Given the description of an element on the screen output the (x, y) to click on. 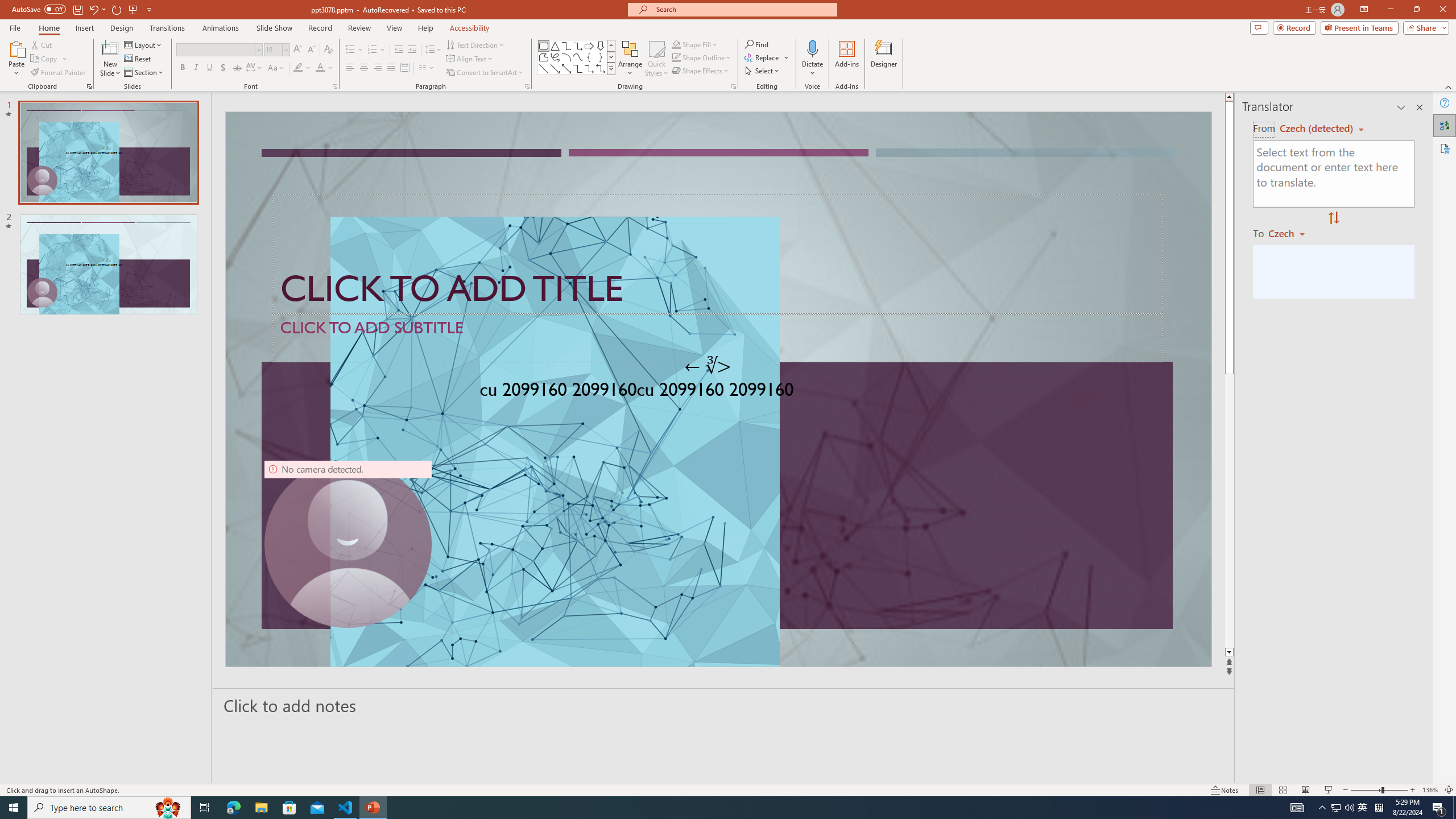
An abstract genetic concept (718, 389)
